Given the description of an element on the screen output the (x, y) to click on. 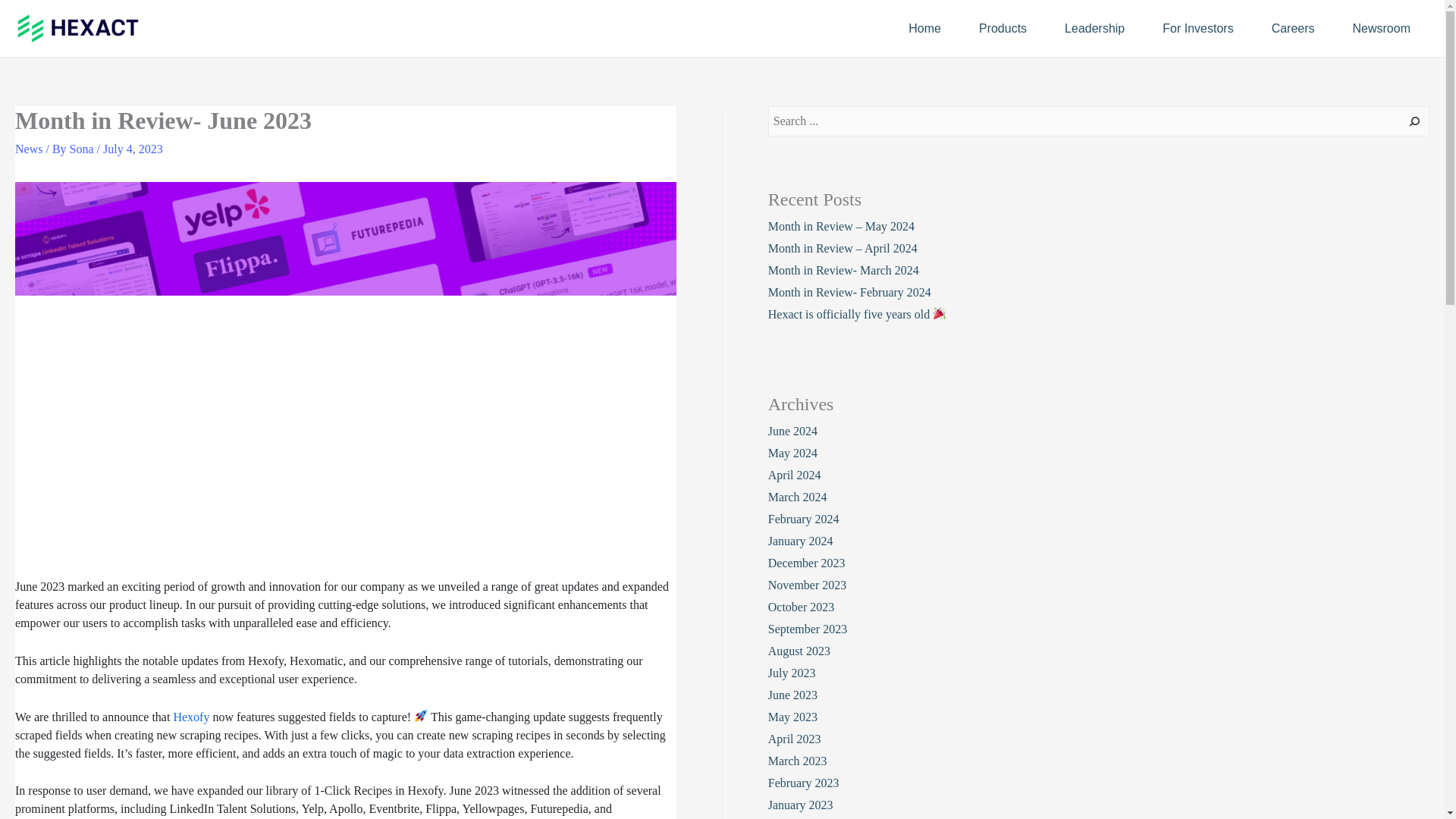
Products (1002, 27)
Sona (83, 148)
News (28, 148)
Leadership (1094, 27)
Careers (1292, 27)
Home (924, 27)
Newsroom (1381, 27)
View all posts by Sona (83, 148)
Hexofy (191, 716)
For Investors (1197, 27)
